Given the description of an element on the screen output the (x, y) to click on. 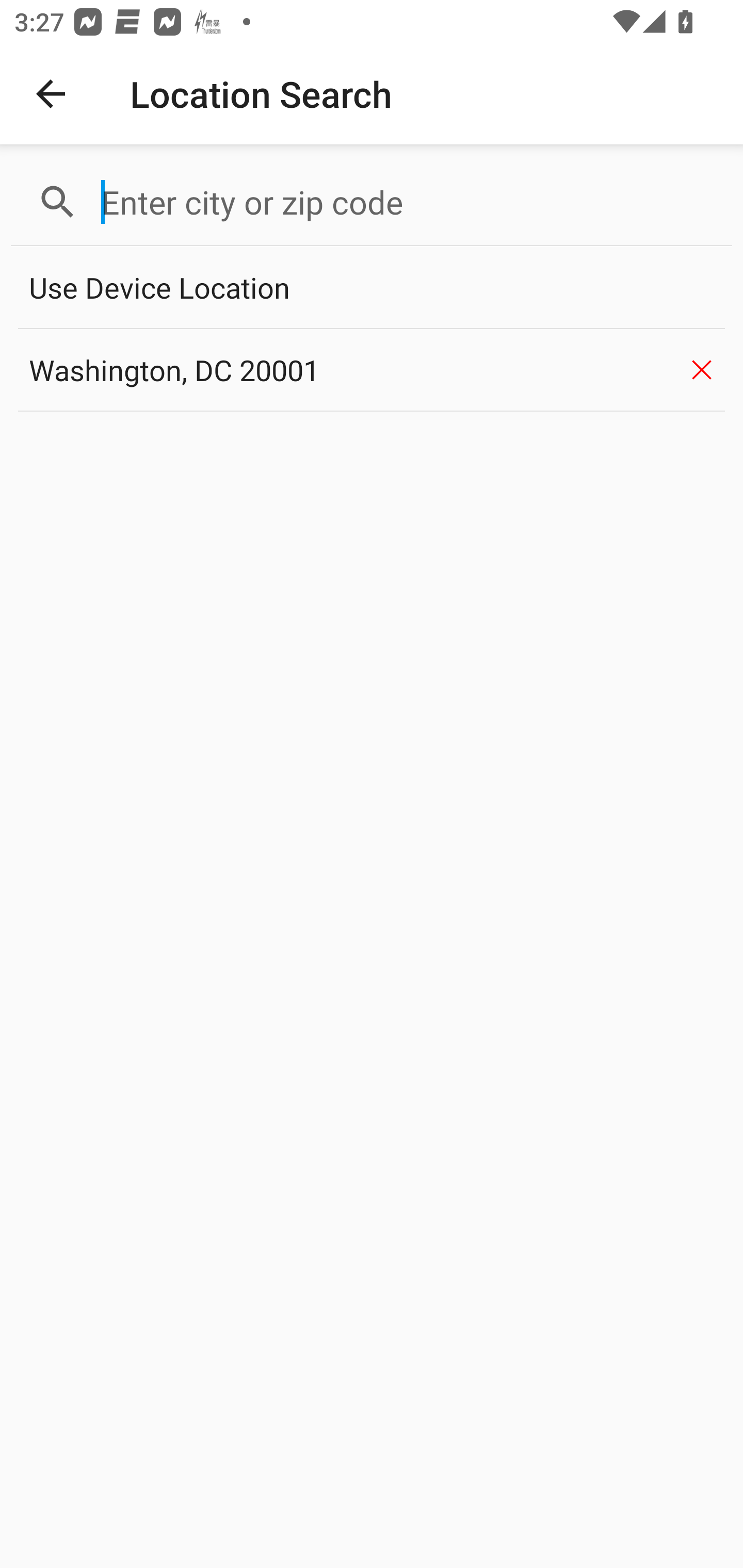
Navigate up (50, 93)
Enter city or zip code (407, 202)
Use Device Location (371, 287)
